Given the description of an element on the screen output the (x, y) to click on. 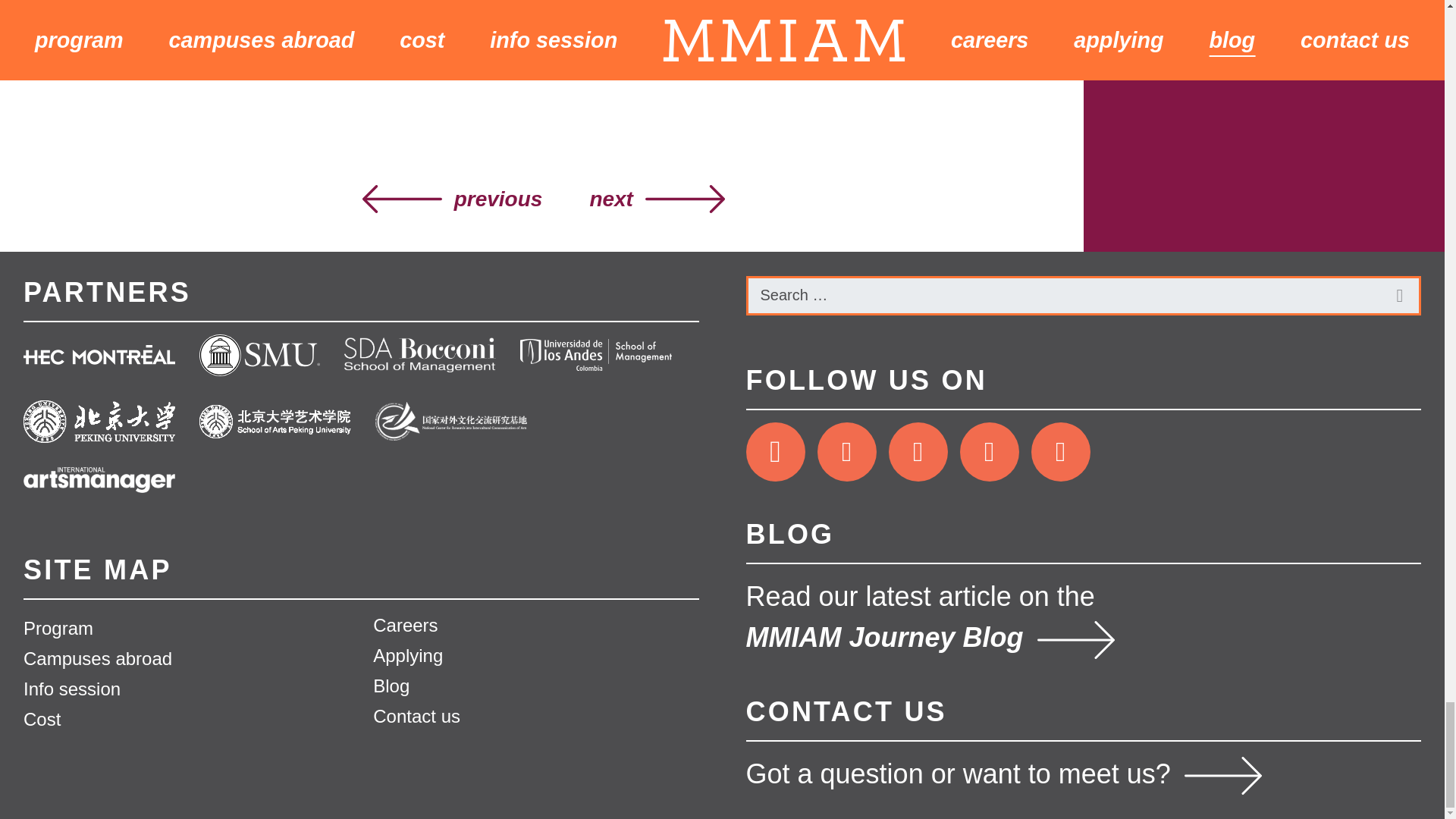
International Journal of Arts Management (537, 13)
abridged research articles here (408, 65)
previous (458, 198)
next (650, 198)
